Given the description of an element on the screen output the (x, y) to click on. 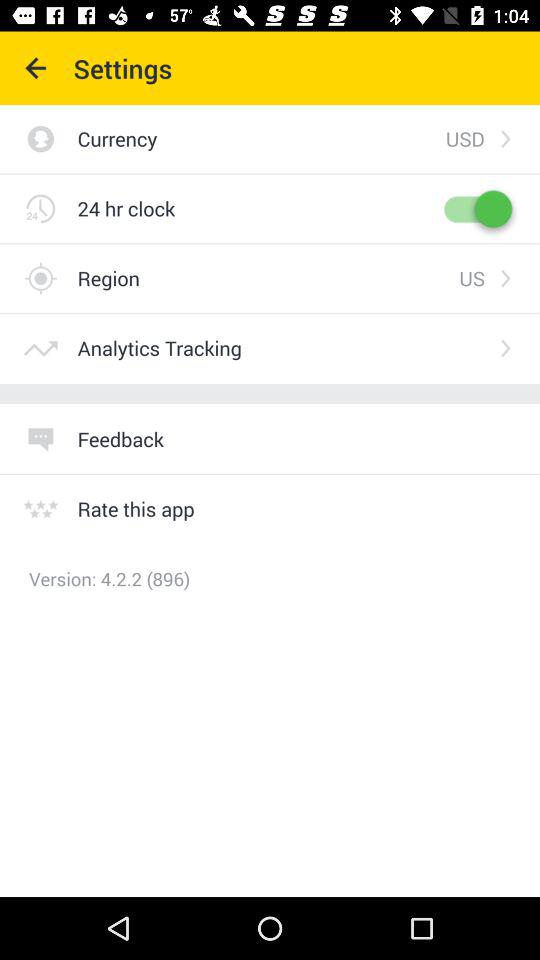
open item above analytics tracking (268, 278)
